Given the description of an element on the screen output the (x, y) to click on. 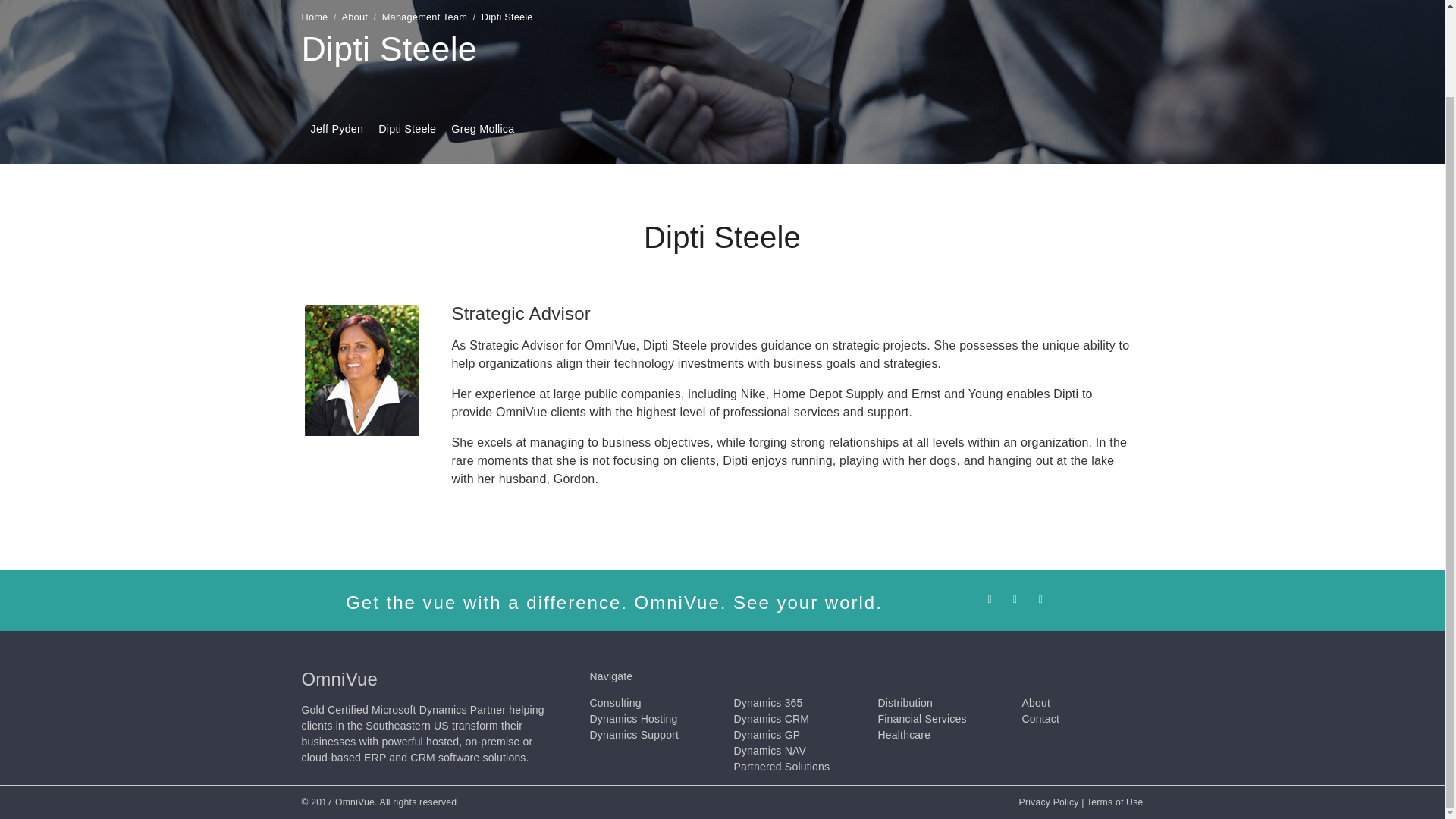
Home (315, 16)
Management Team (424, 16)
About (355, 16)
